Given the description of an element on the screen output the (x, y) to click on. 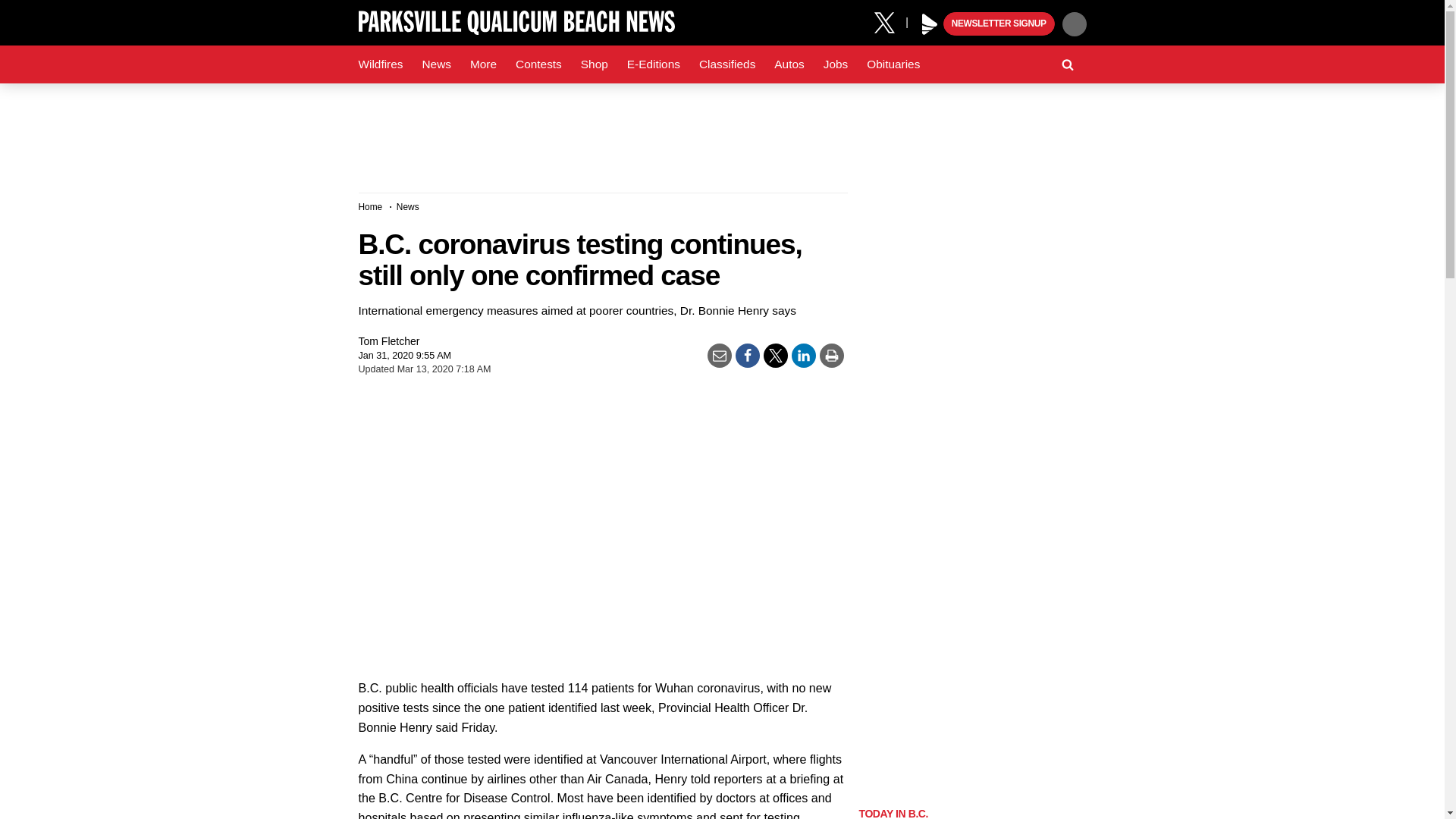
X (889, 21)
Black Press Media (929, 24)
Wildfires (380, 64)
News (435, 64)
NEWSLETTER SIGNUP (998, 24)
Play (929, 24)
